Given the description of an element on the screen output the (x, y) to click on. 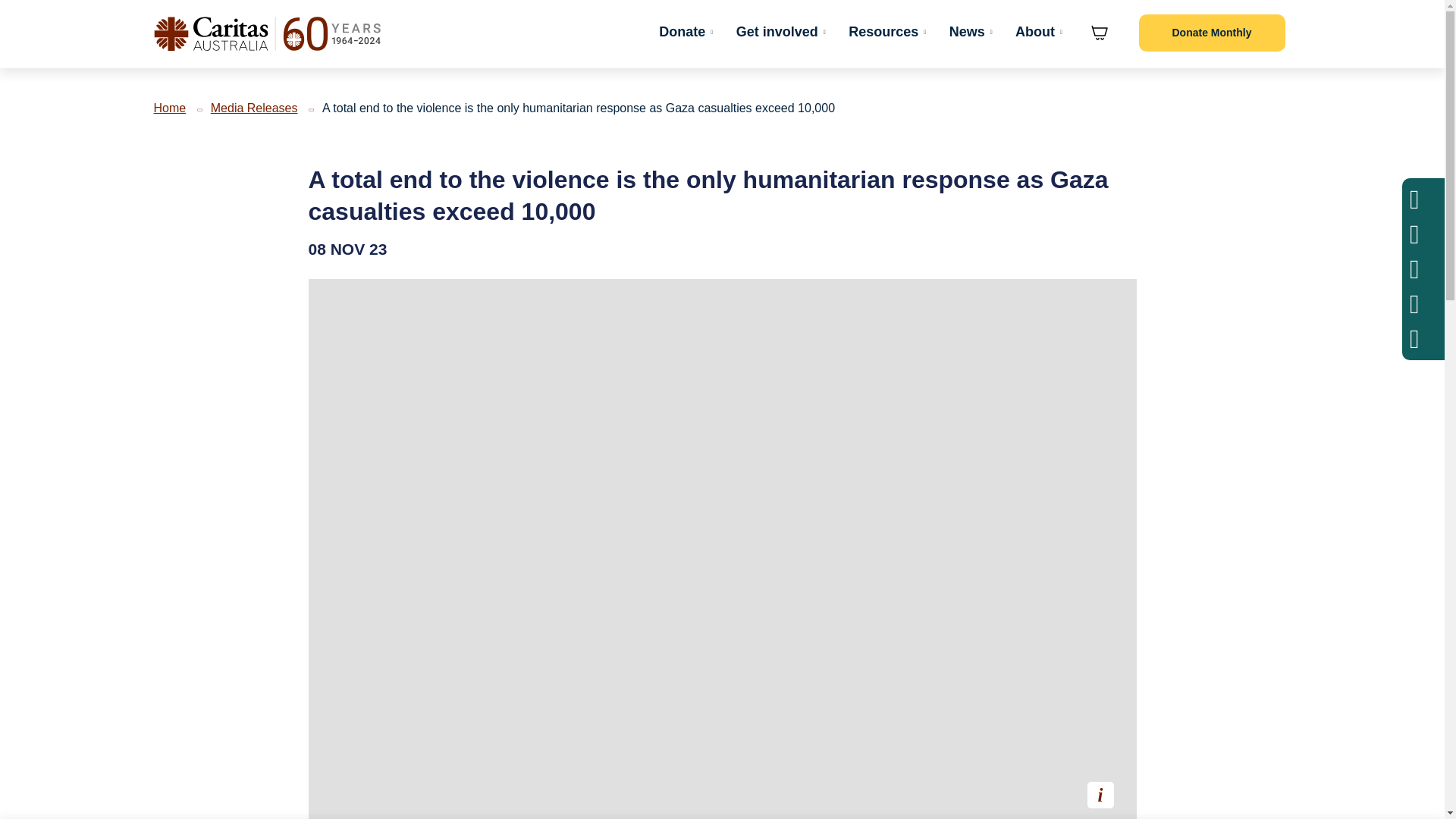
Home (169, 107)
Media Releases (254, 107)
Donate (683, 31)
